Given the description of an element on the screen output the (x, y) to click on. 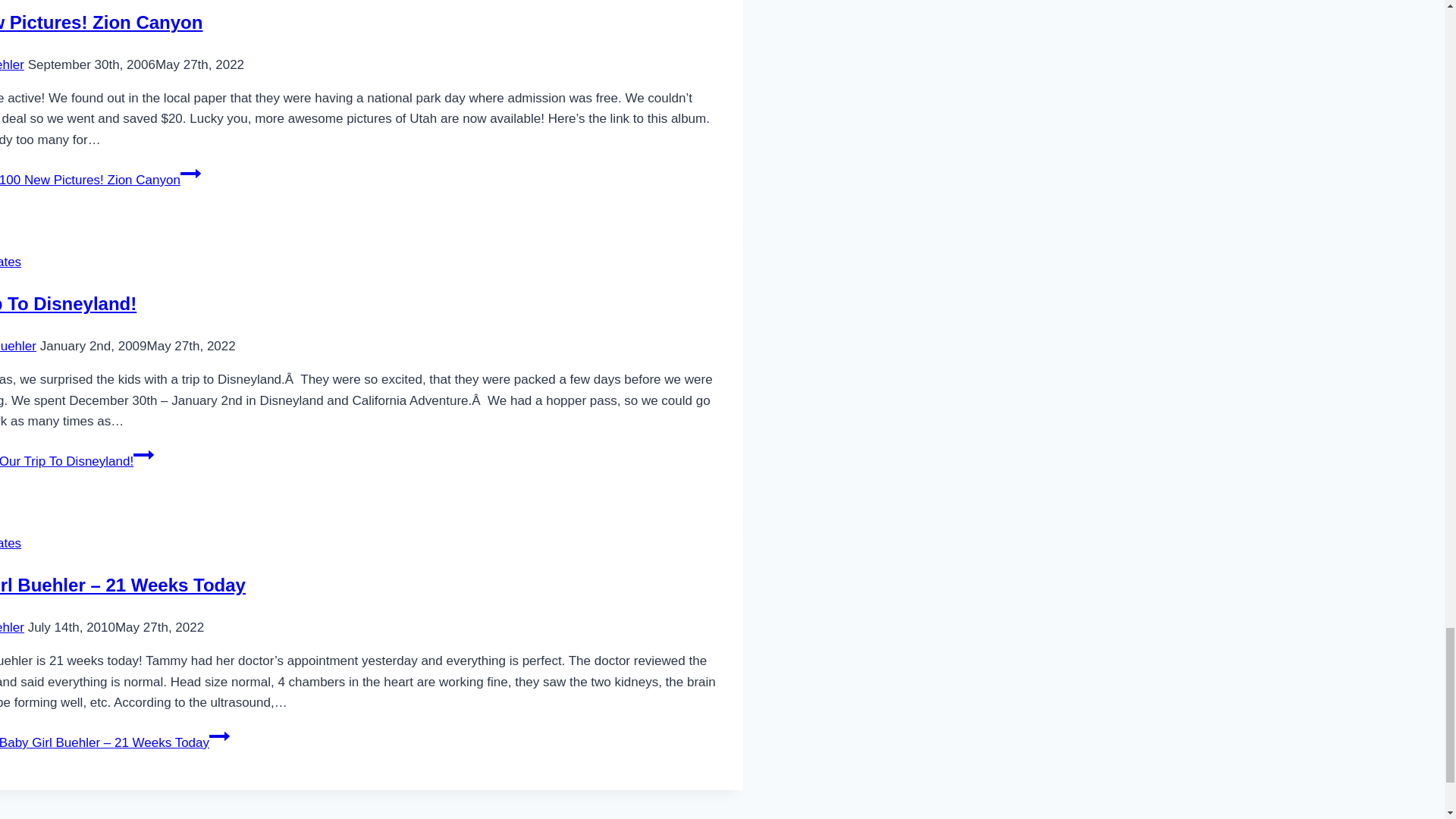
Continue (190, 173)
100 New Pictures! Zion Canyon (101, 22)
Read More 100 New Pictures! Zion CanyonContinue (100, 179)
Continue (143, 455)
Continue (219, 735)
Scott Buehler (12, 64)
